Given the description of an element on the screen output the (x, y) to click on. 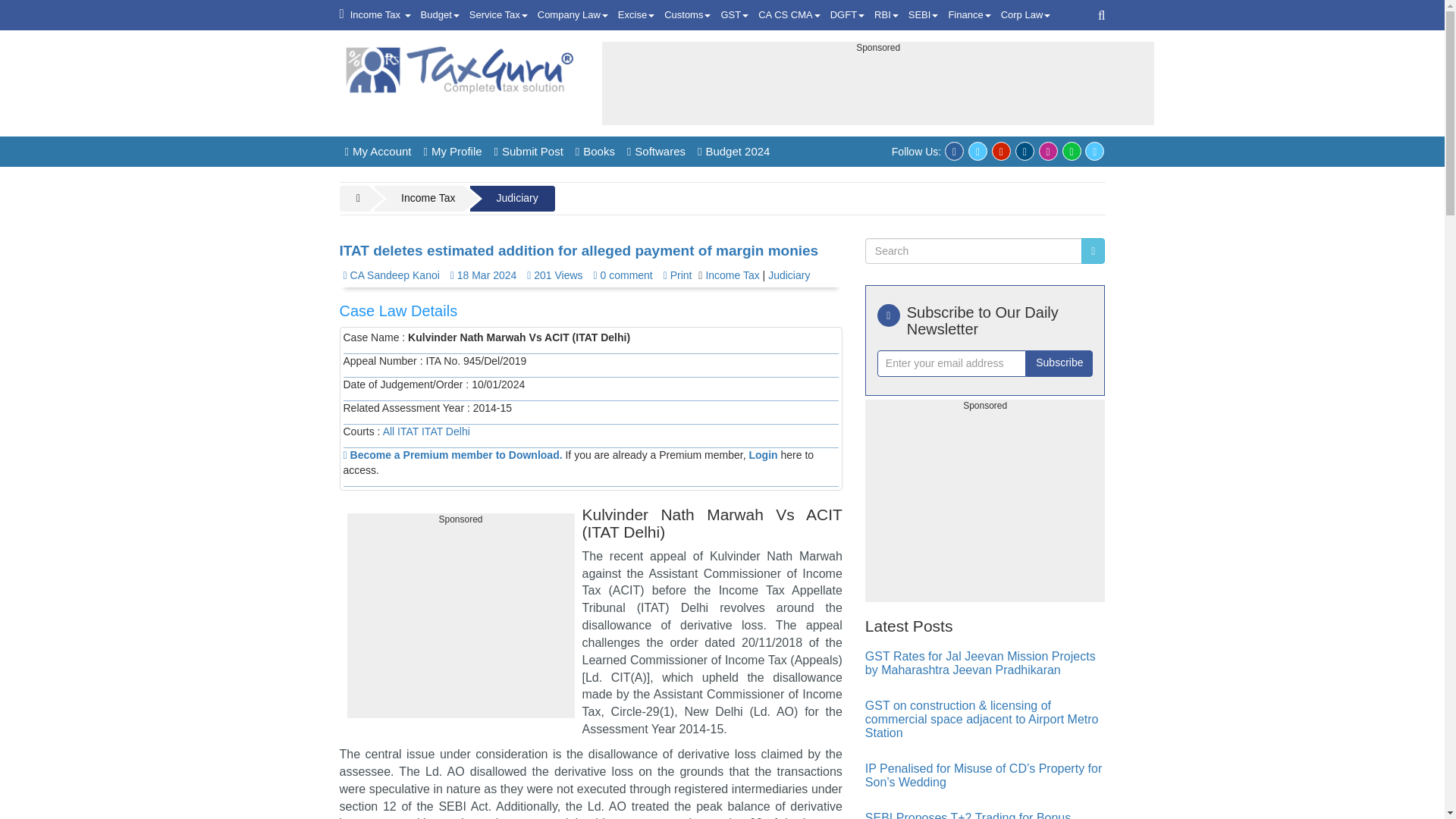
Excise (636, 15)
Service Tax (498, 15)
Company Law (572, 15)
Income Tax Related Information (380, 15)
Income Tax (380, 15)
Budget (439, 15)
Union Budget 2024 Article News Notifications (439, 15)
Customs (687, 15)
Service Tax Article News Notifications Judgments (498, 15)
